Given the description of an element on the screen output the (x, y) to click on. 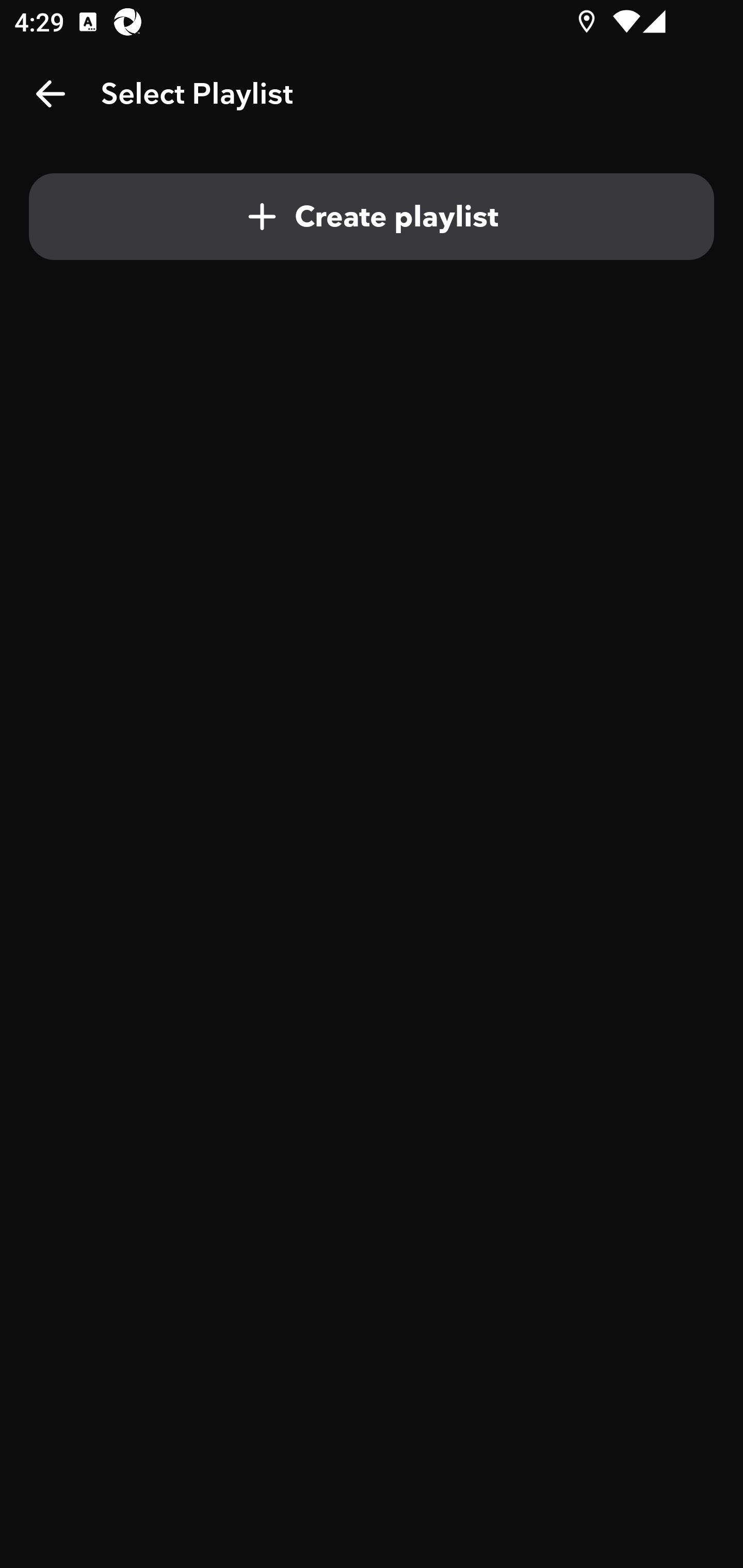
Back (50, 93)
Create playlist (371, 217)
